Given the description of an element on the screen output the (x, y) to click on. 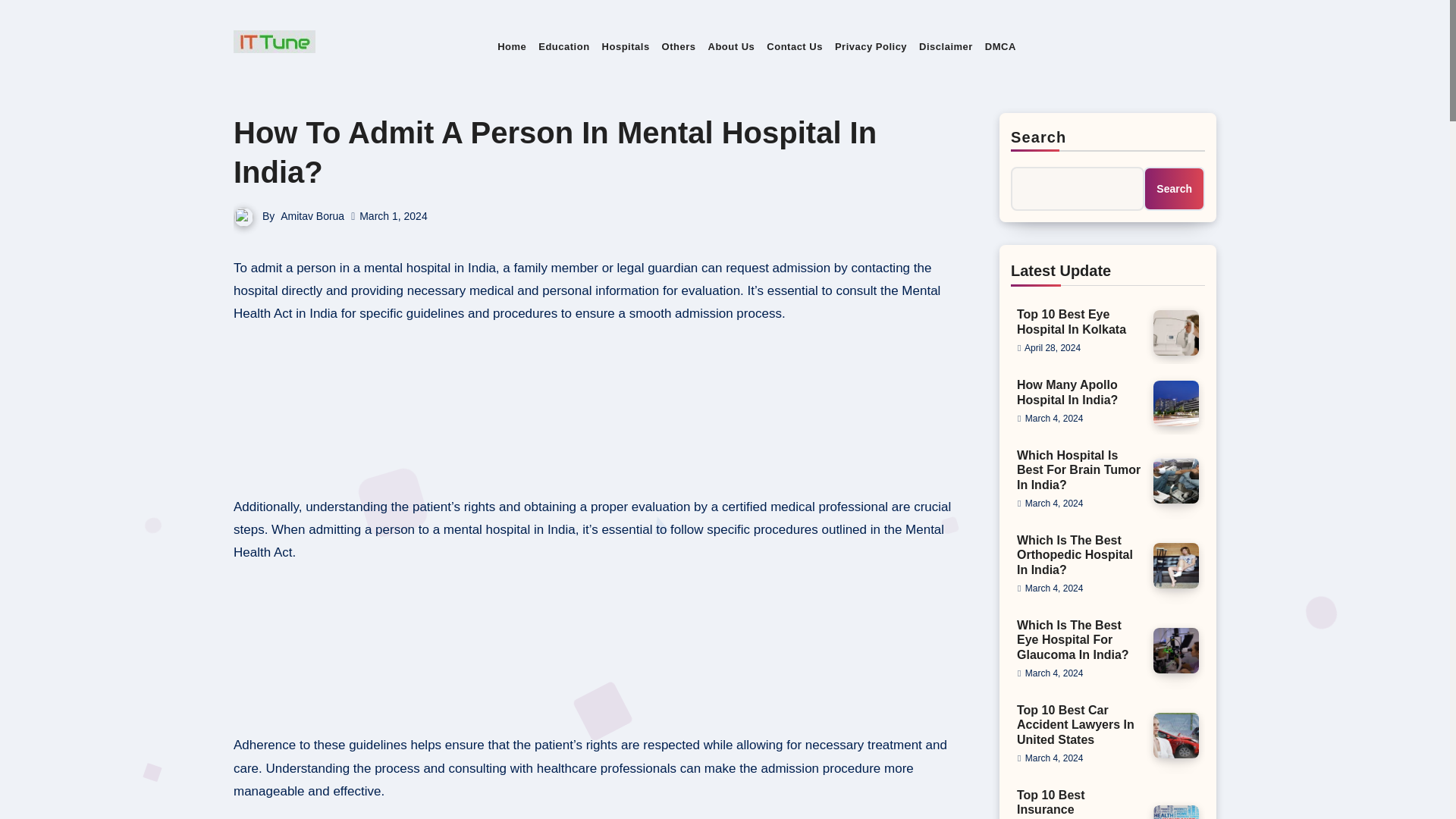
Contact Us (794, 47)
Home (512, 47)
Amitav Borua (312, 215)
DMCA (1000, 47)
Privacy Policy (870, 47)
Hospitals (625, 47)
DMCA (1000, 47)
March 1, 2024 (393, 215)
About Us (731, 47)
Hospitals (625, 47)
Home (512, 47)
Contact Us (794, 47)
Privacy Policy (870, 47)
Disclaimer (945, 47)
